Given the description of an element on the screen output the (x, y) to click on. 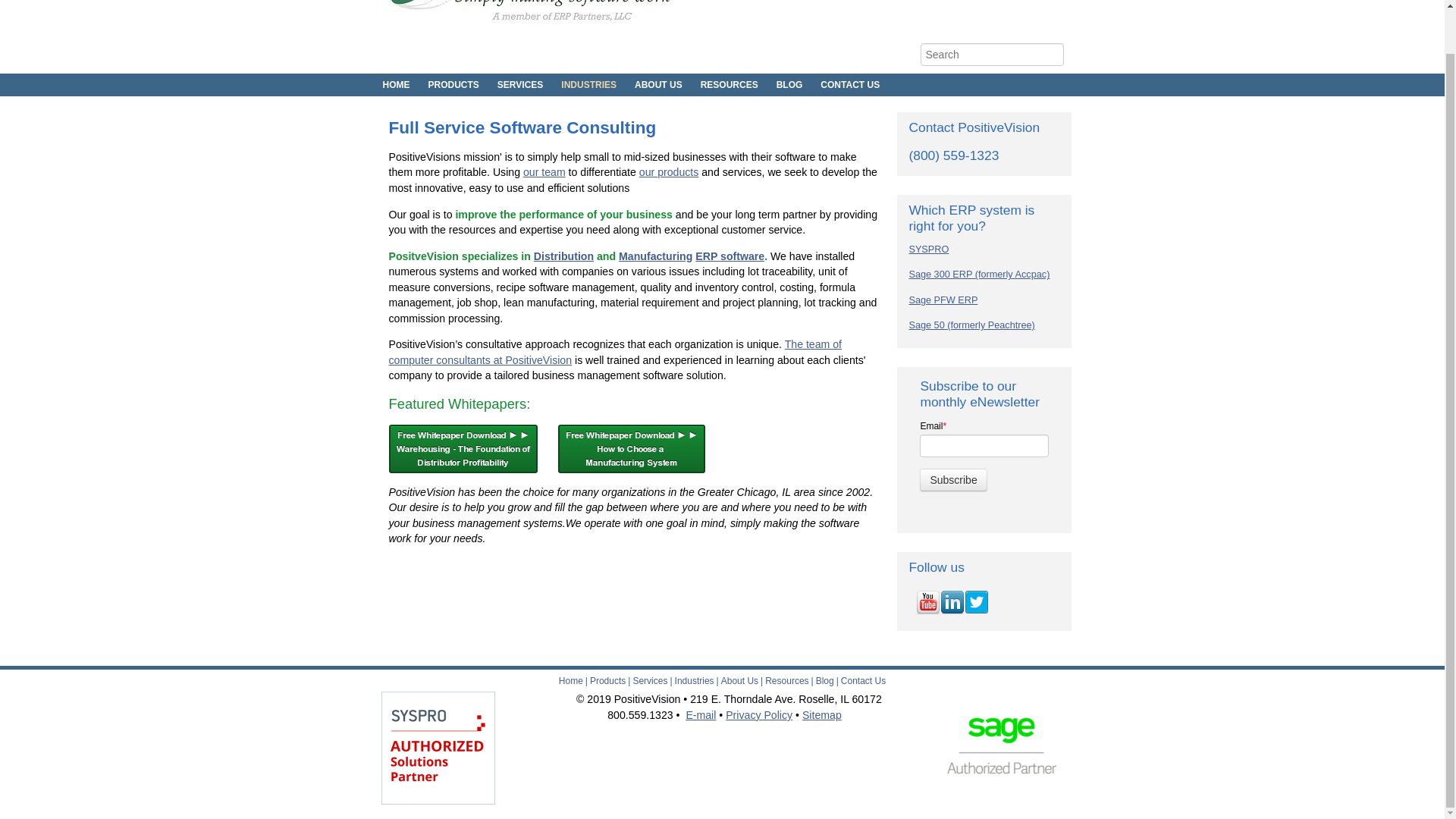
Manufacturing   (655, 256)
HOME (399, 84)
CONTACT US (849, 84)
Follow us on Linkedin (951, 602)
Subscribe (953, 479)
Follow us on YouTube (927, 602)
INDUSTRIES (588, 84)
ERP software (729, 256)
SERVICES (519, 84)
our team (544, 172)
